Given the description of an element on the screen output the (x, y) to click on. 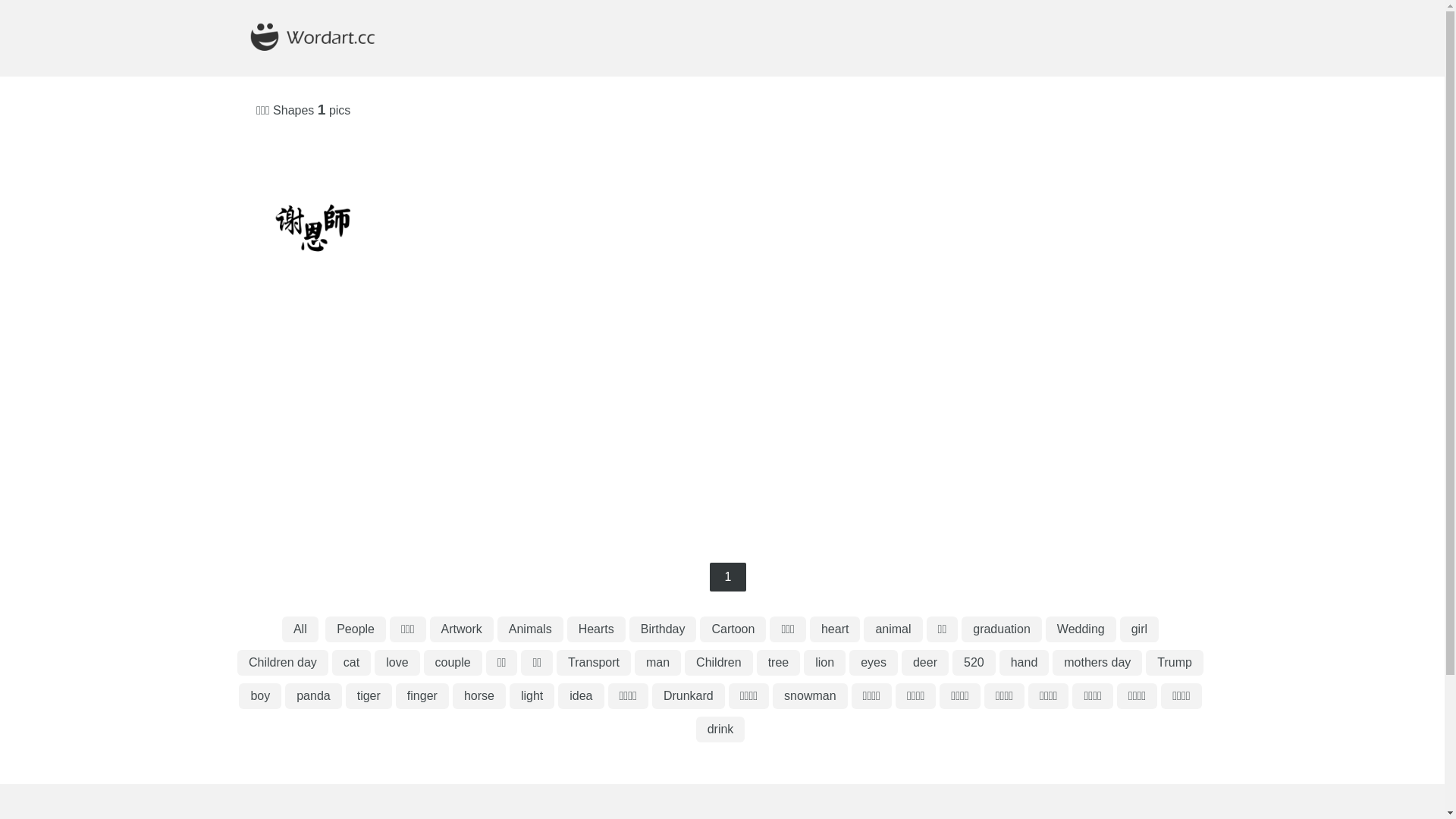
mothers day Element type: text (1096, 661)
People Element type: text (355, 628)
finger Element type: text (422, 695)
Hearts Element type: text (596, 628)
Cartoon Element type: text (732, 628)
Animals Element type: text (530, 628)
tree Element type: text (778, 661)
Artwork Element type: text (461, 628)
Wedding Element type: text (1080, 628)
man Element type: text (657, 661)
Children day Element type: text (282, 661)
All Element type: text (300, 628)
Drunkard Element type: text (688, 695)
horse Element type: text (479, 695)
light Element type: text (531, 695)
tiger Element type: text (368, 695)
love Element type: text (396, 661)
deer Element type: text (925, 661)
panda Element type: text (313, 695)
couple Element type: text (452, 661)
lion Element type: text (824, 661)
Transport Element type: text (593, 661)
hand Element type: text (1024, 661)
Advertisement Element type: hover (721, 426)
idea Element type: text (580, 695)
Birthday Element type: text (662, 628)
animal Element type: text (892, 628)
Children Element type: text (718, 661)
520 Element type: text (973, 661)
drink Element type: text (720, 728)
heart Element type: text (834, 628)
Trump Element type: text (1174, 661)
snowman Element type: text (809, 695)
boy Element type: text (259, 695)
1 Element type: text (727, 576)
girl Element type: text (1139, 628)
cat Element type: text (351, 661)
eyes Element type: text (873, 661)
graduation Element type: text (1001, 628)
create word2art poster width shapes - 2019061162802305.PNG Element type: hover (333, 222)
